Given the description of an element on the screen output the (x, y) to click on. 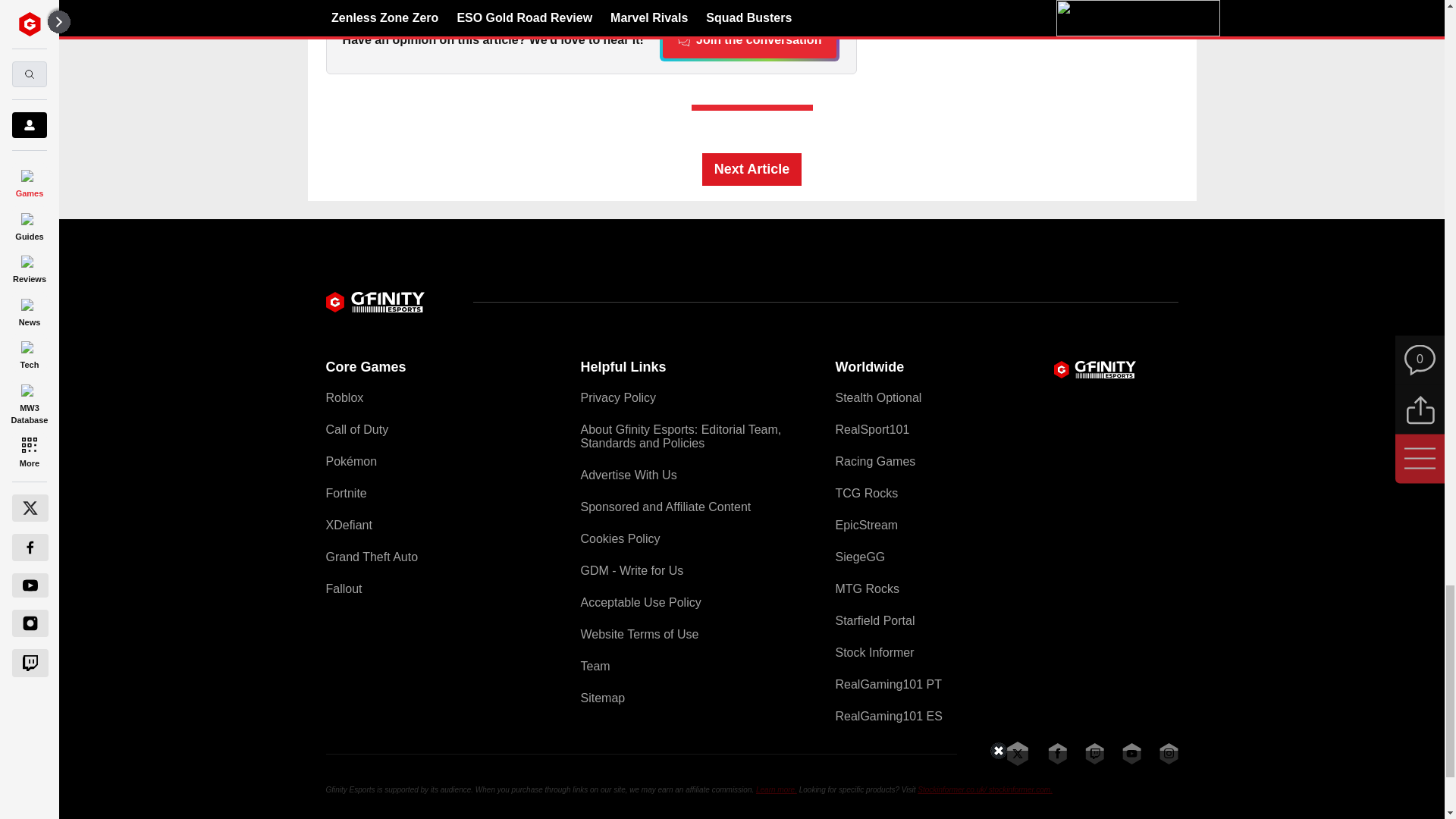
Latest News (1063, 40)
